Given the description of an element on the screen output the (x, y) to click on. 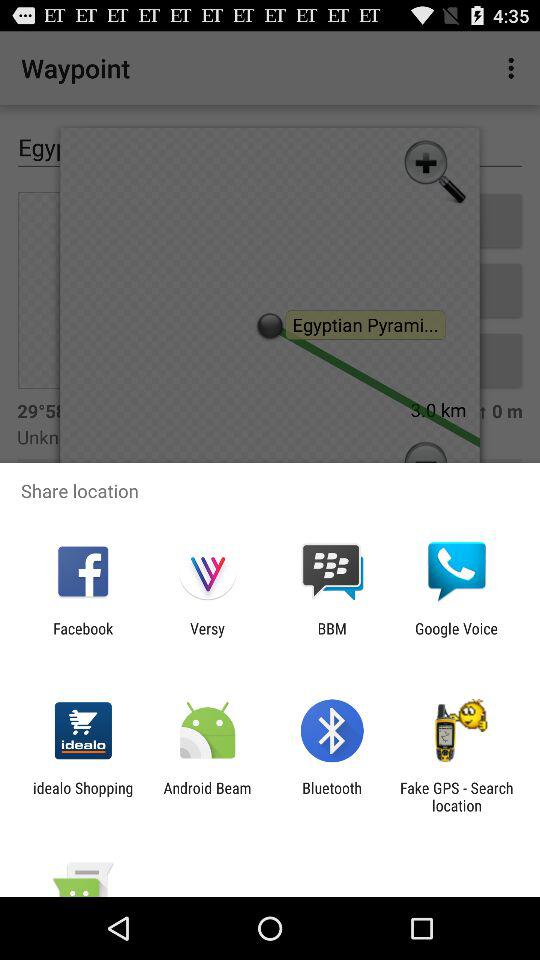
press the facebook (83, 637)
